Given the description of an element on the screen output the (x, y) to click on. 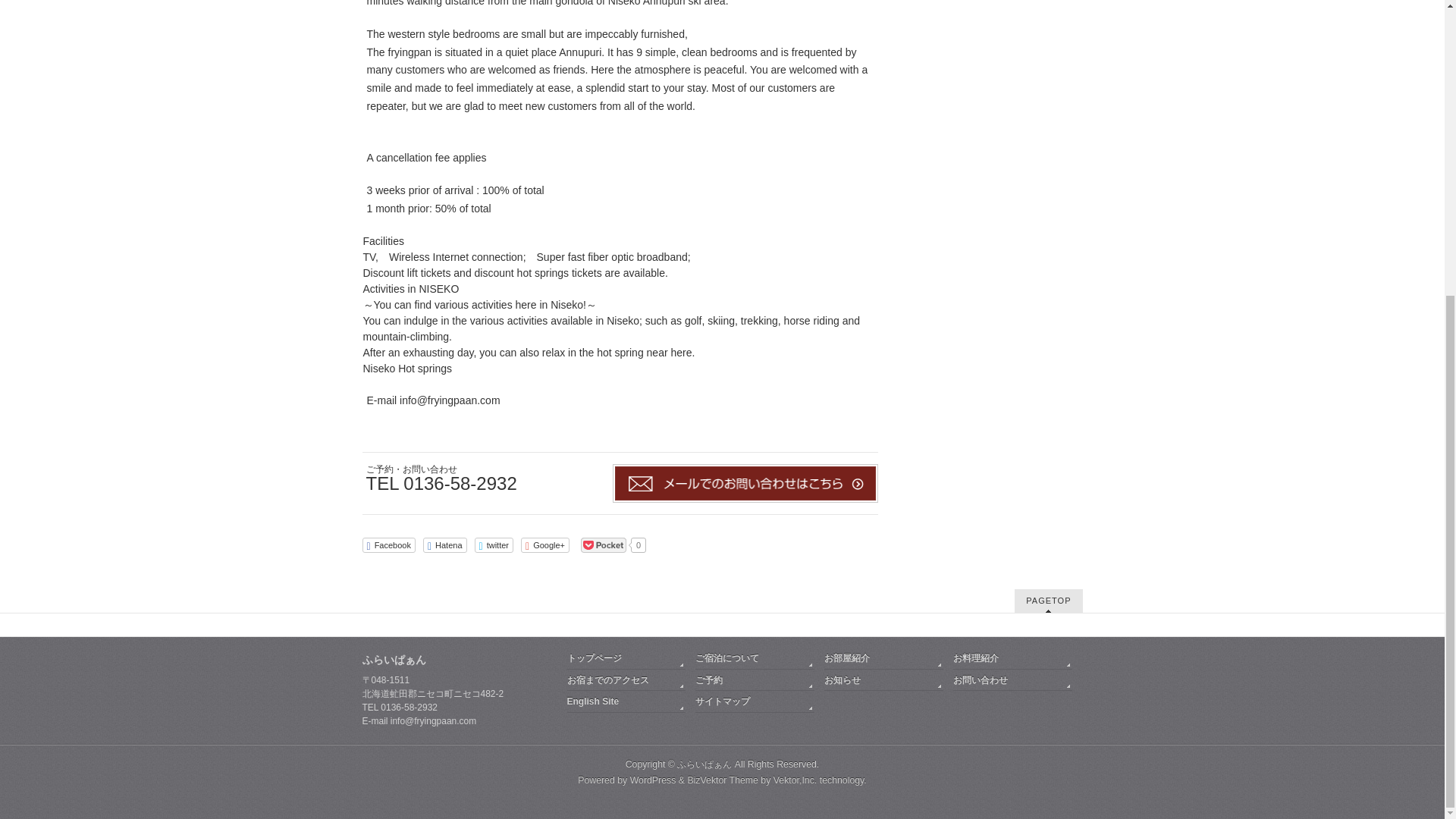
Hatena (445, 544)
Facebook (388, 544)
English Site (626, 703)
WordPress (653, 779)
Vektor,Inc. (794, 779)
BizVektor Theme (722, 779)
PAGETOP (1047, 600)
twitter (493, 544)
